Given the description of an element on the screen output the (x, y) to click on. 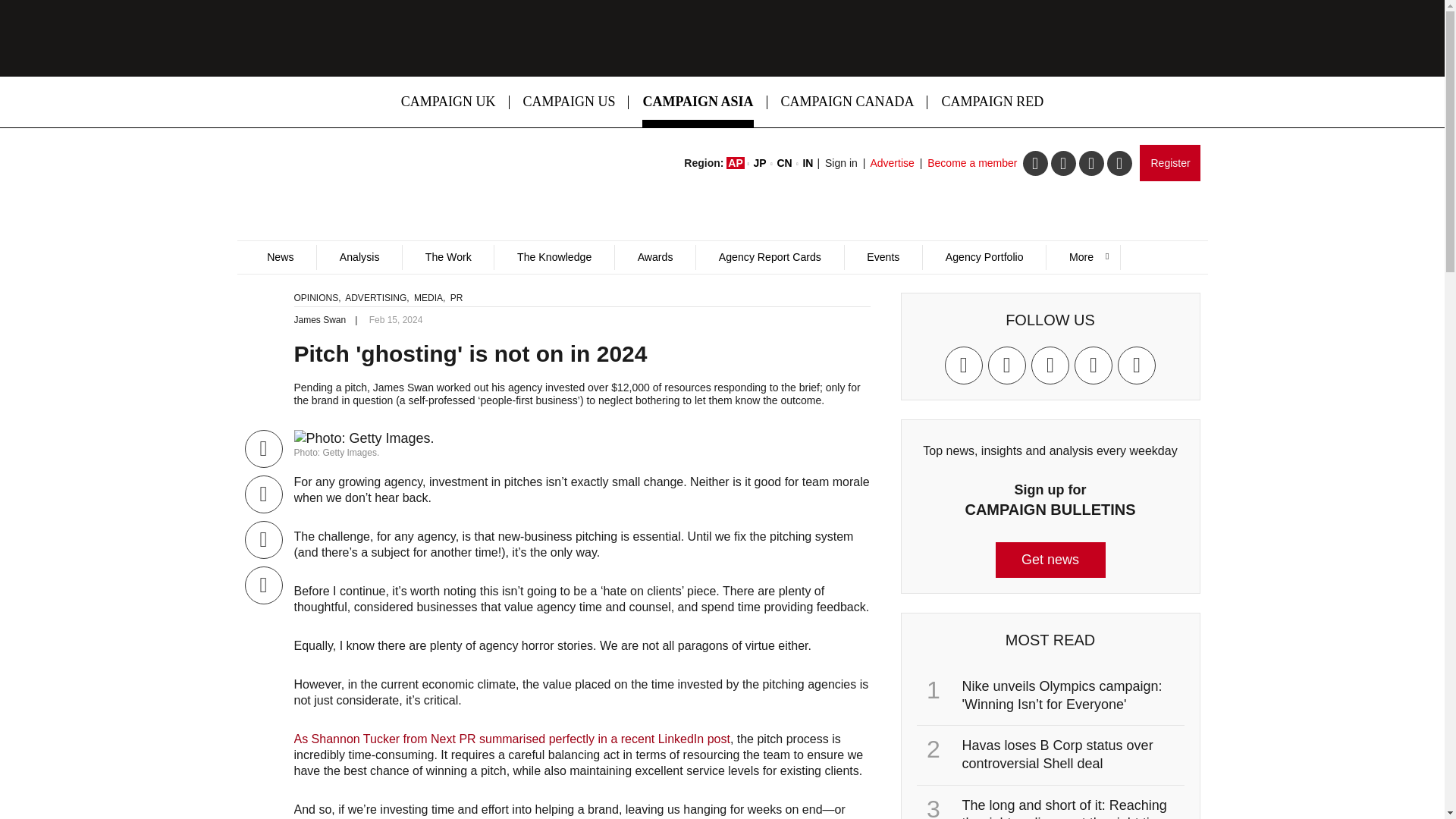
Analysis (358, 257)
JP (760, 162)
Agency Report Cards (769, 257)
CAMPAIGN ASIA (697, 101)
More (1082, 257)
Agency Portfolio (983, 257)
The Work (447, 257)
Events (883, 257)
News (279, 257)
Become a member (971, 162)
News (279, 257)
More (1082, 257)
Sign in (841, 162)
Advertise (891, 162)
CAMPAIGN RED (992, 101)
